Given the description of an element on the screen output the (x, y) to click on. 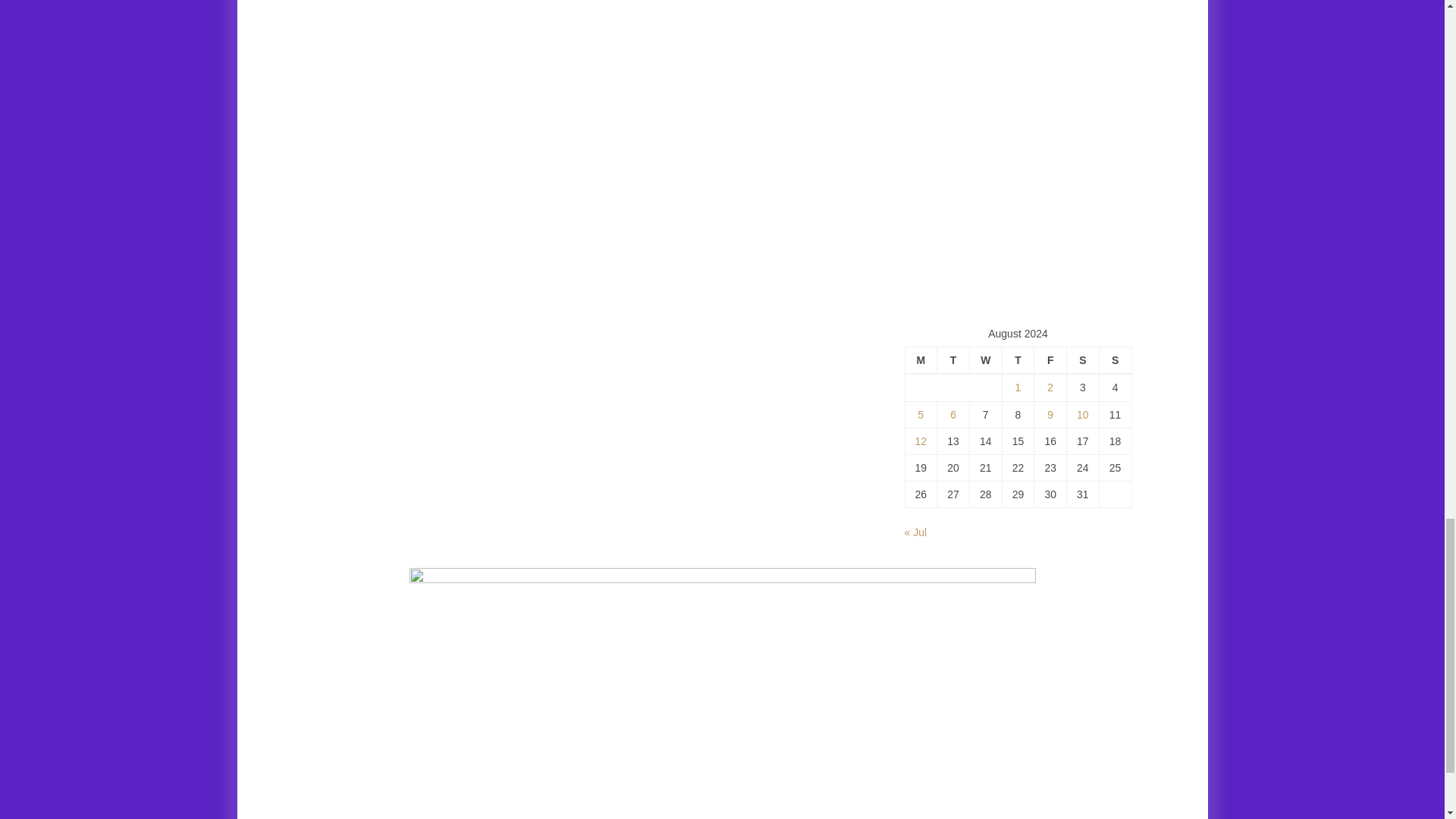
Tuesday (953, 360)
Wednesday (985, 360)
Monday (920, 360)
Friday (1050, 360)
Saturday (1083, 360)
Sunday (1115, 360)
Thursday (1017, 360)
